Given the description of an element on the screen output the (x, y) to click on. 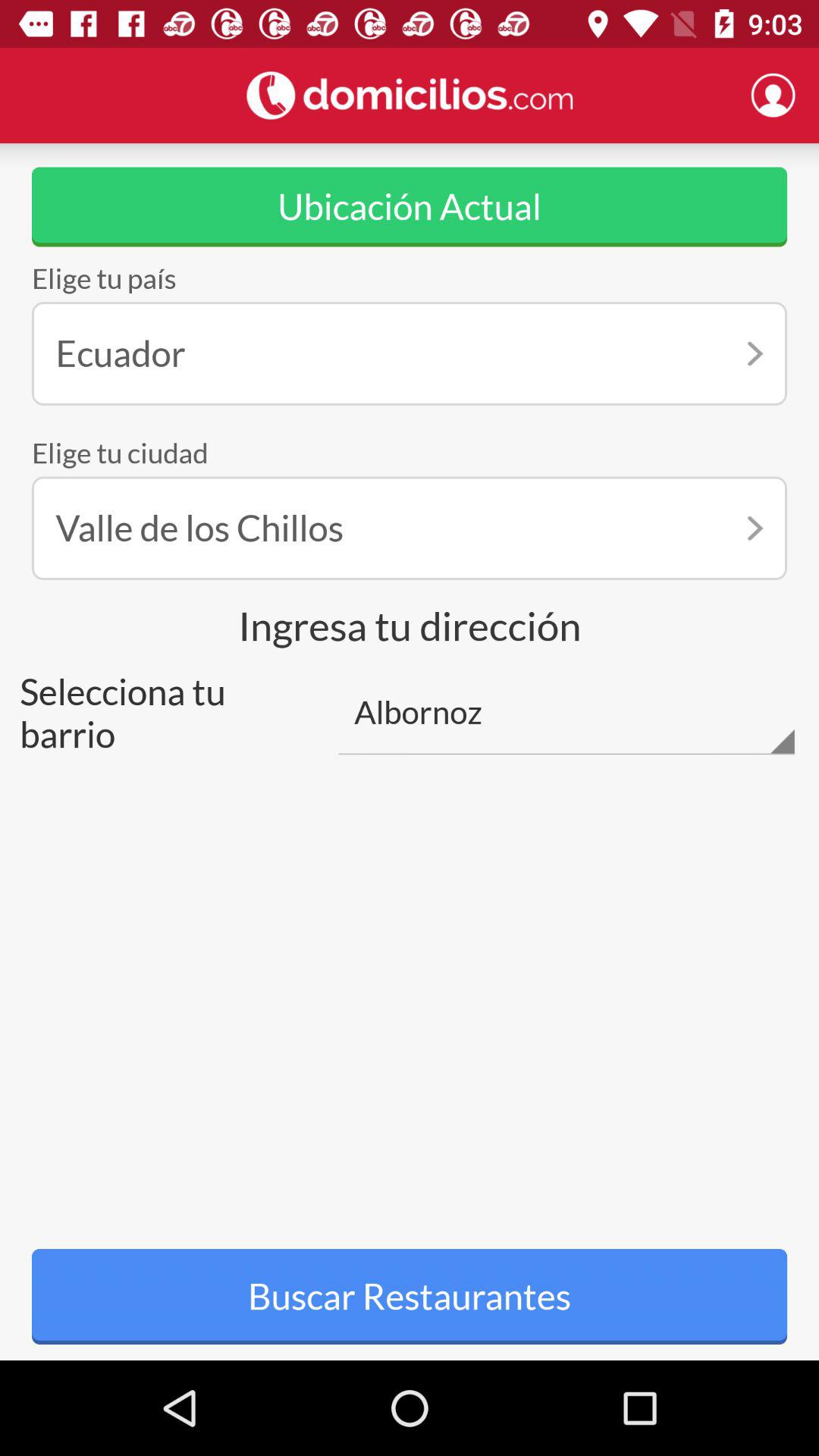
go to profile (773, 95)
